Given the description of an element on the screen output the (x, y) to click on. 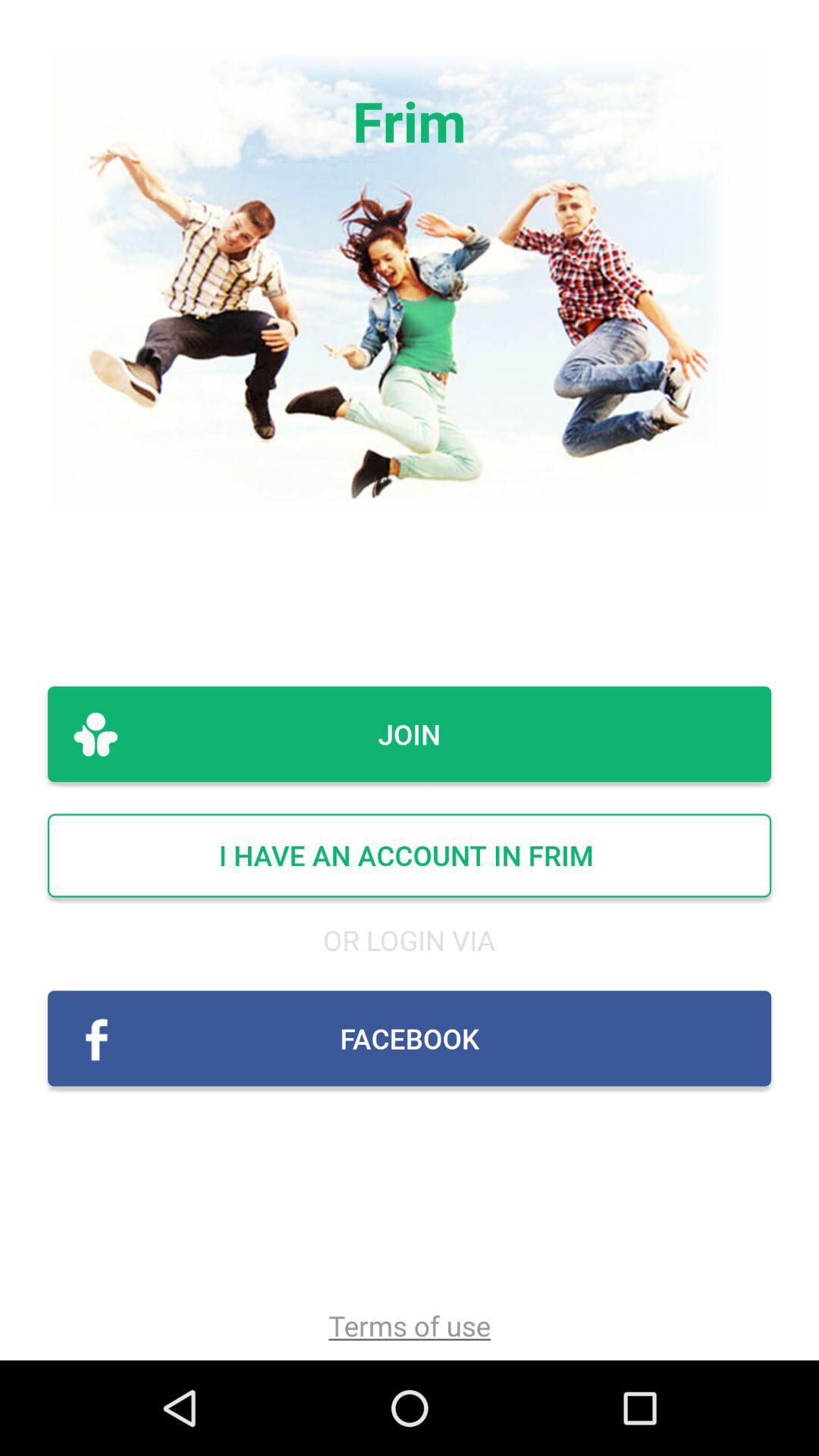
tap icon above i have an item (409, 734)
